Given the description of an element on the screen output the (x, y) to click on. 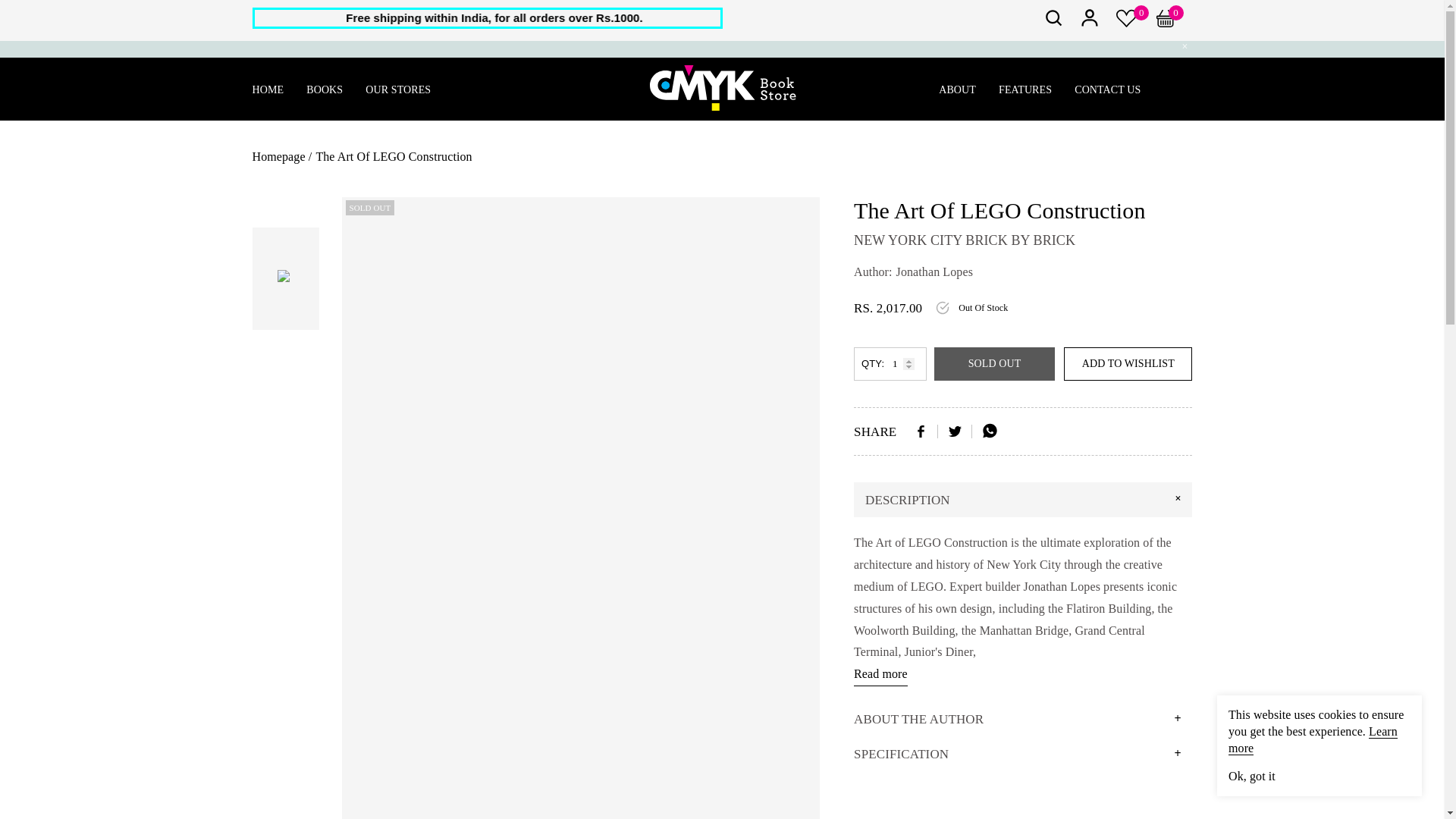
BOOKS (323, 89)
0 (1174, 23)
1 (889, 363)
0 (1126, 23)
HOME (267, 89)
